Given the description of an element on the screen output the (x, y) to click on. 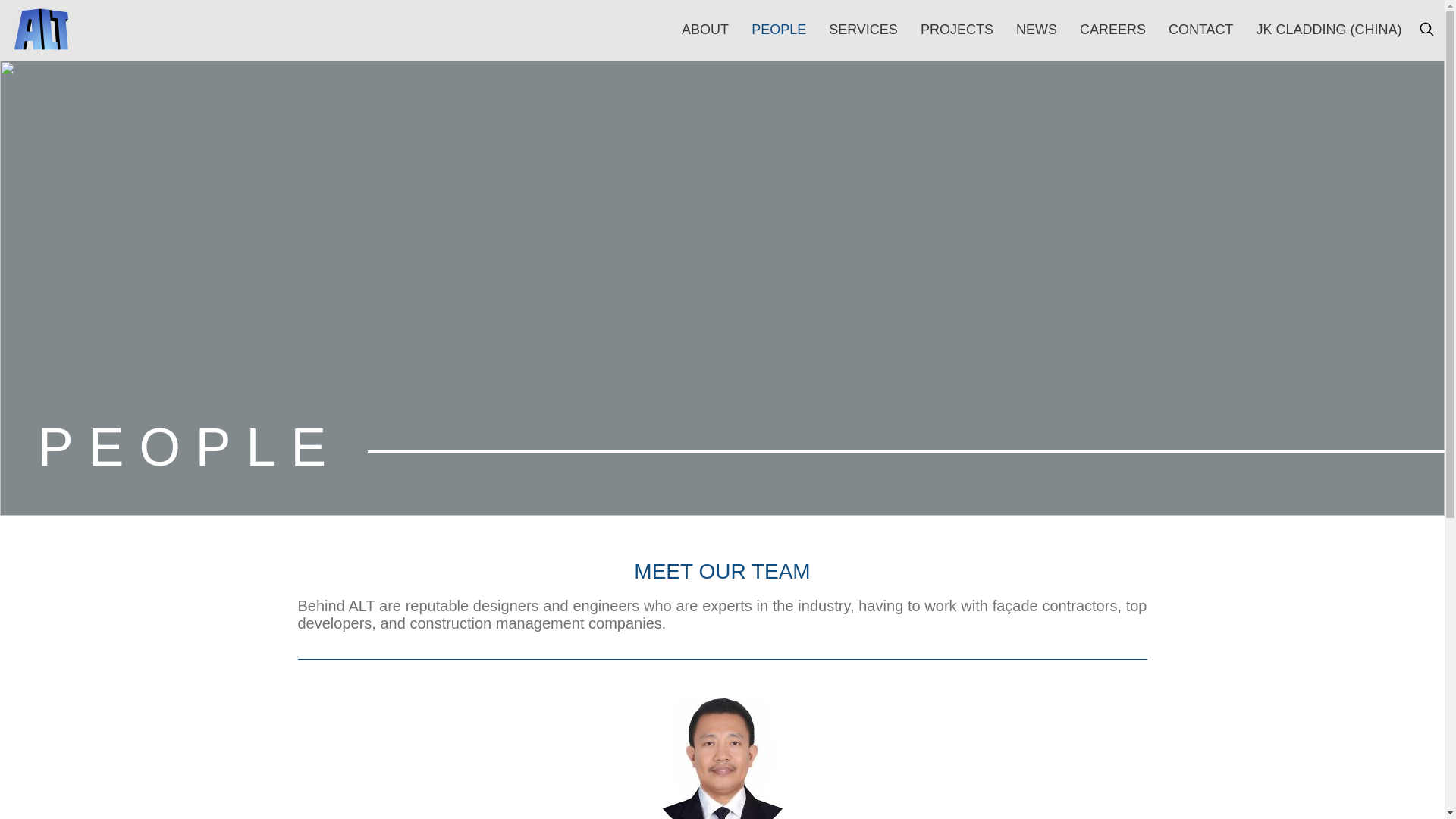
Headlines (862, 103)
Features (375, 153)
View all posts in Features (375, 153)
Latest News (384, 174)
Top Companies (780, 103)
Sign Up (1294, 451)
Subscribe (1028, 12)
Home (328, 153)
Login (962, 12)
here (465, 775)
